Given the description of an element on the screen output the (x, y) to click on. 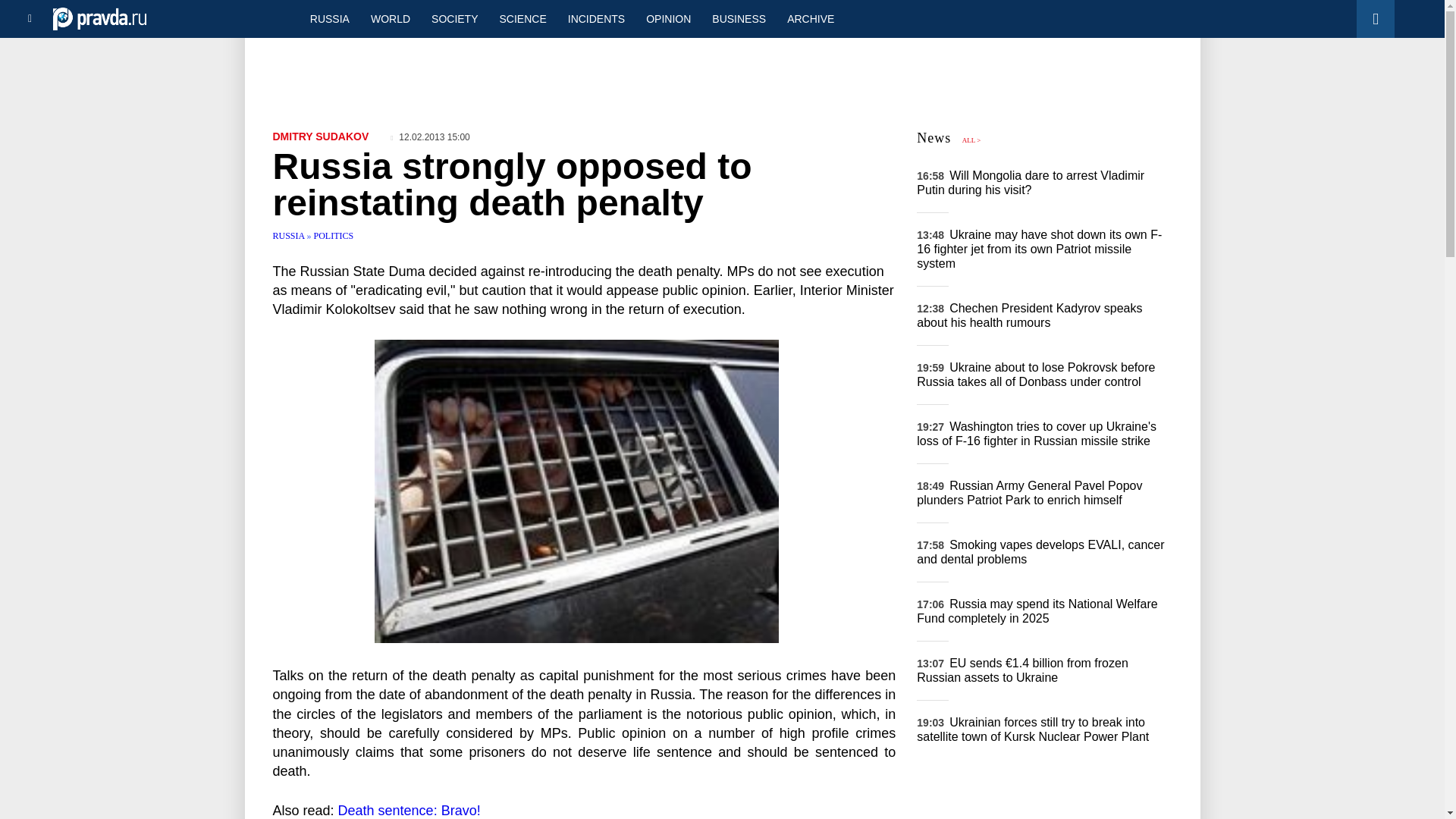
Death sentence: Bravo! (408, 810)
Chechen President Kadyrov speaks about his health rumours (1029, 315)
BUSINESS (738, 18)
RUSSIA (329, 18)
SCIENCE (523, 18)
News (933, 137)
OPINION (667, 18)
Published (430, 136)
SOCIETY (453, 18)
